Given the description of an element on the screen output the (x, y) to click on. 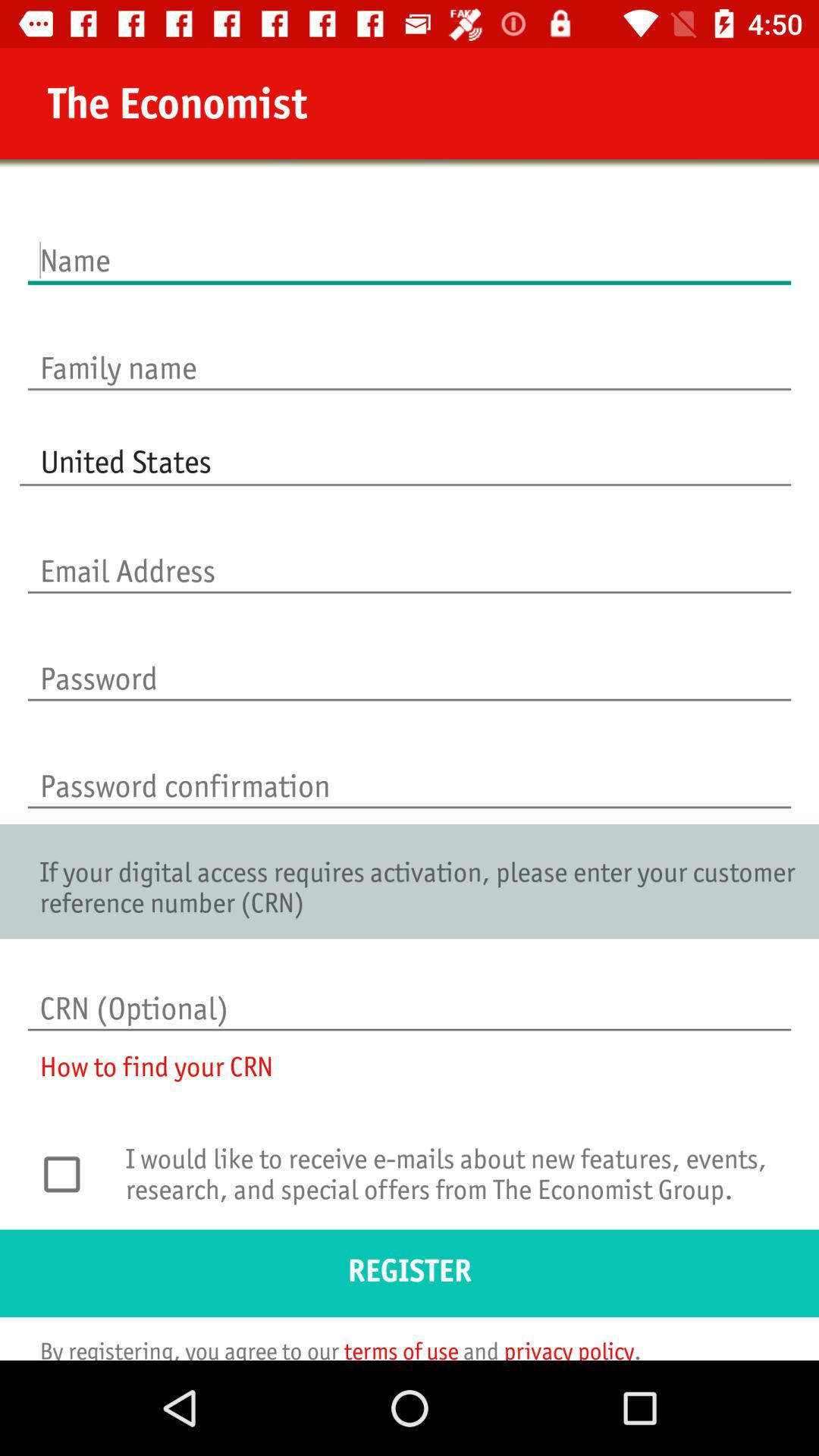
turn on how to find (146, 1076)
